Given the description of an element on the screen output the (x, y) to click on. 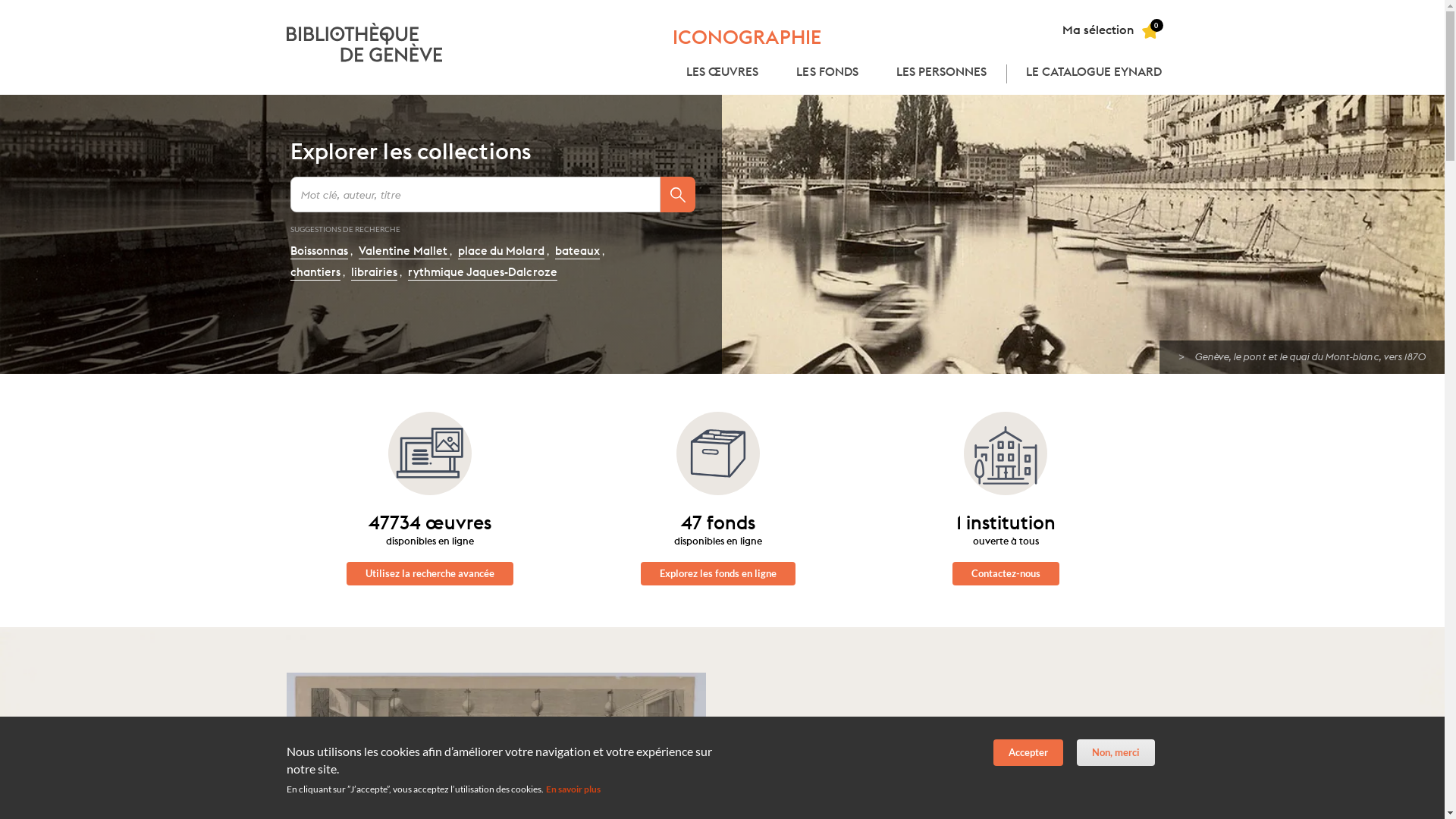
Go Element type: text (675, 194)
LES PERSONNES Element type: text (941, 73)
Accepter Element type: text (1028, 752)
LE CATALOGUE EYNARD Element type: text (1094, 73)
Aller au contenu principal Element type: text (0, 0)
librairies Element type: text (374, 272)
rythmique Jaques-Dalcroze Element type: text (481, 272)
Boissonnas Element type: text (318, 251)
Accueil Element type: hover (365, 42)
bateaux Element type: text (577, 251)
Contactez-nous Element type: text (1005, 573)
Non, merci Element type: text (1115, 752)
LES FONDS Element type: text (826, 73)
Explorez les fonds en ligne Element type: text (717, 573)
En savoir plus Element type: text (573, 788)
place du Molard Element type: text (501, 251)
Valentine Mallet Element type: text (403, 251)
chantiers Element type: text (314, 272)
